Given the description of an element on the screen output the (x, y) to click on. 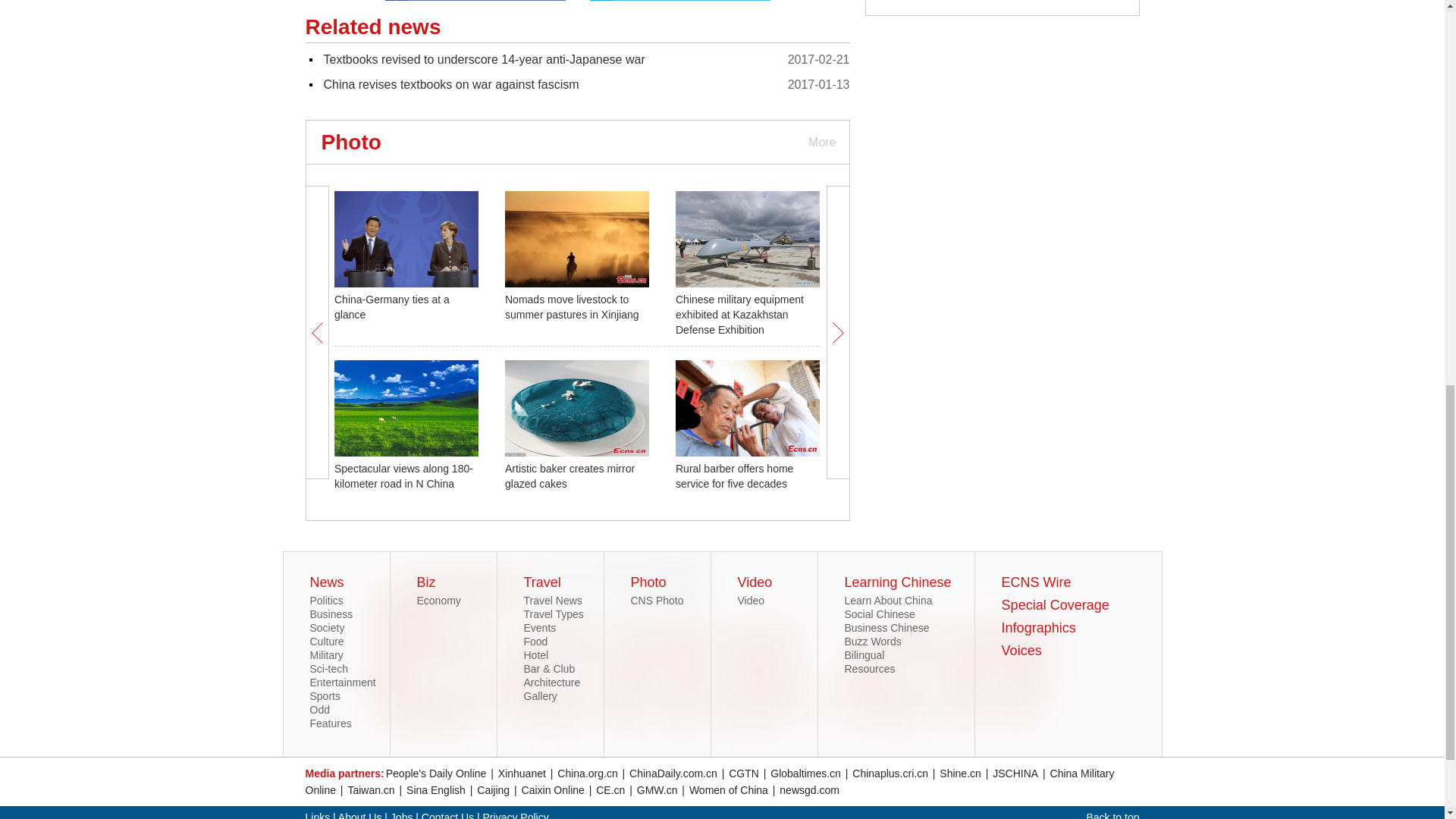
More (820, 141)
Textbooks revised to underscore 14-year anti-Japanese war (484, 59)
Nomads move livestock to summer pastures in Xinjiang (572, 307)
China revises textbooks on war against fascism (450, 83)
China-Germany ties at a glance (391, 307)
Spectacular views along 180-kilometer road in N China (403, 475)
Artistic baker creates mirror glazed cakes (569, 475)
